Given the description of an element on the screen output the (x, y) to click on. 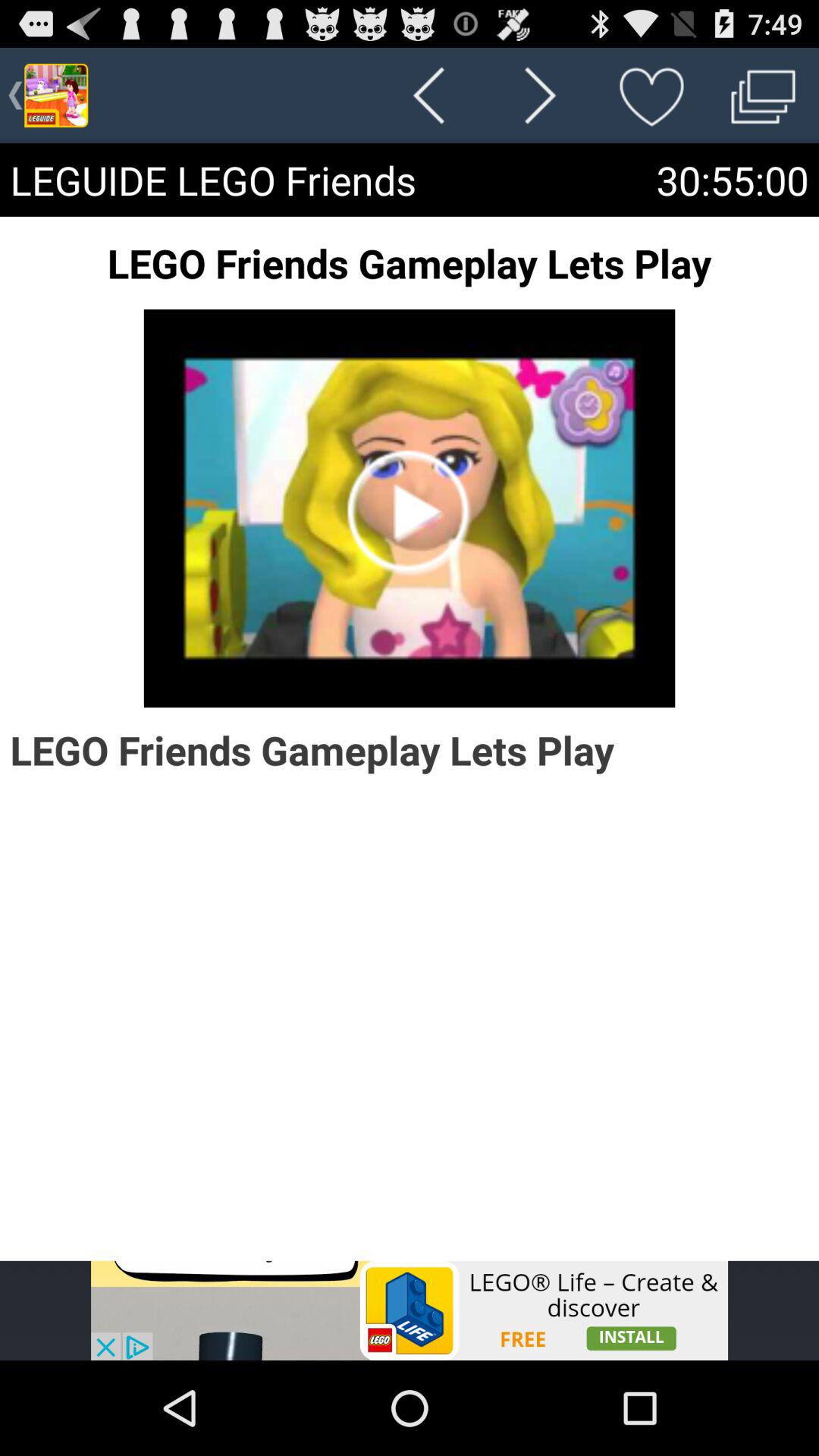
an advertisement (409, 1310)
